Given the description of an element on the screen output the (x, y) to click on. 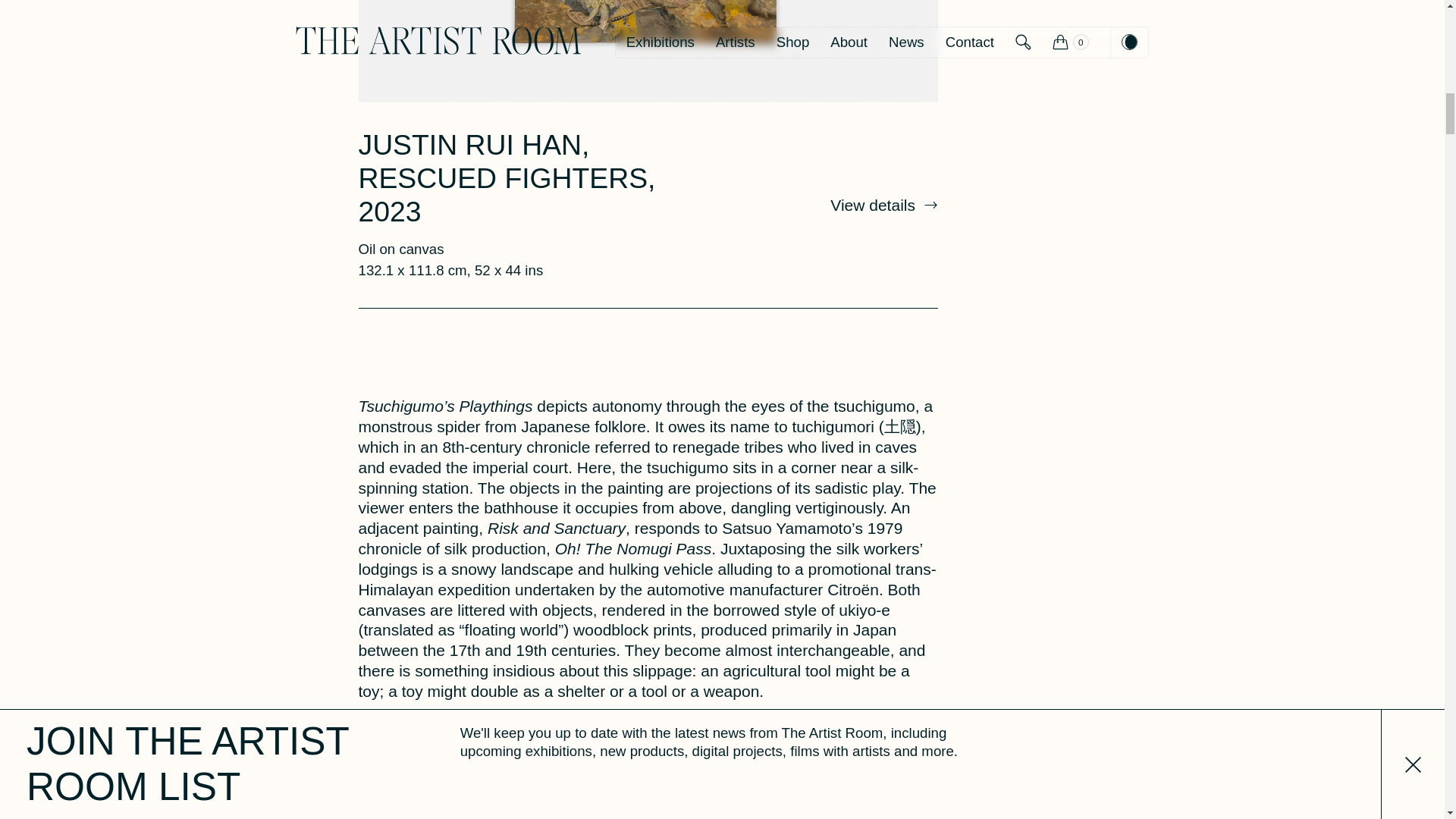
View details (883, 204)
JUSTIN RUI HAN, RESCUED FIGHTERS, 2023 (506, 177)
